Given the description of an element on the screen output the (x, y) to click on. 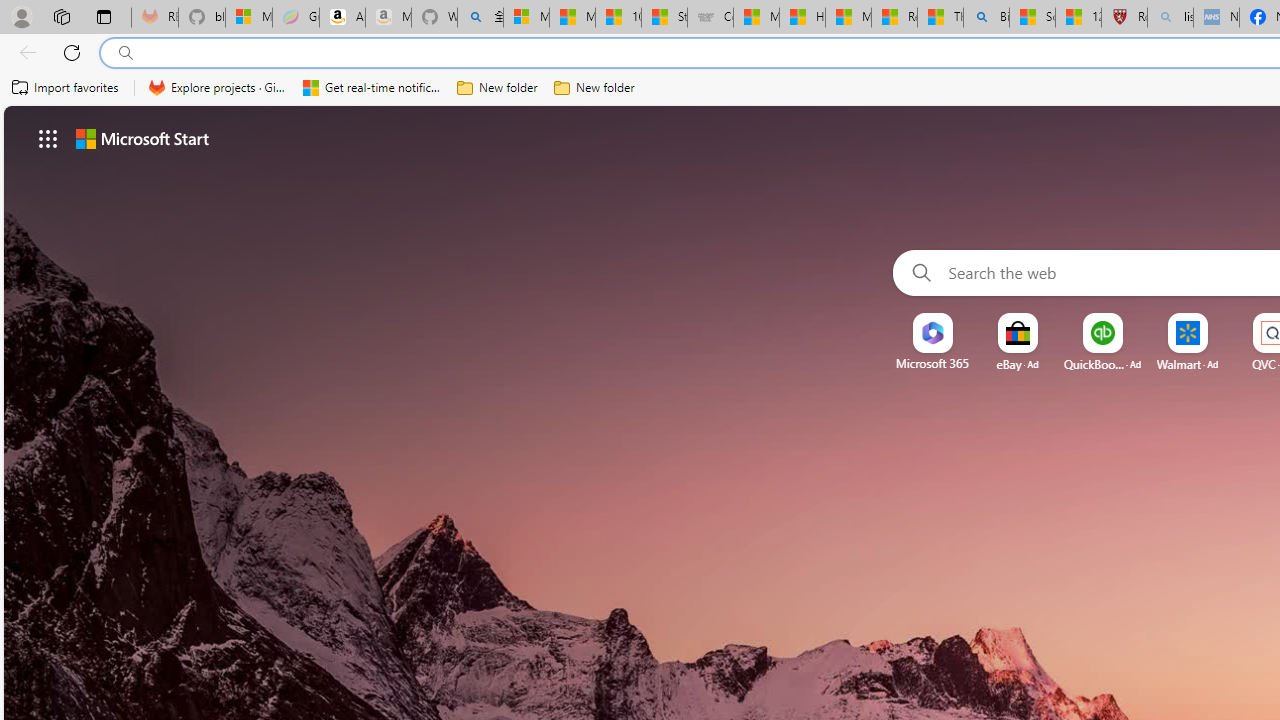
Import favorites (65, 88)
